Given the description of an element on the screen output the (x, y) to click on. 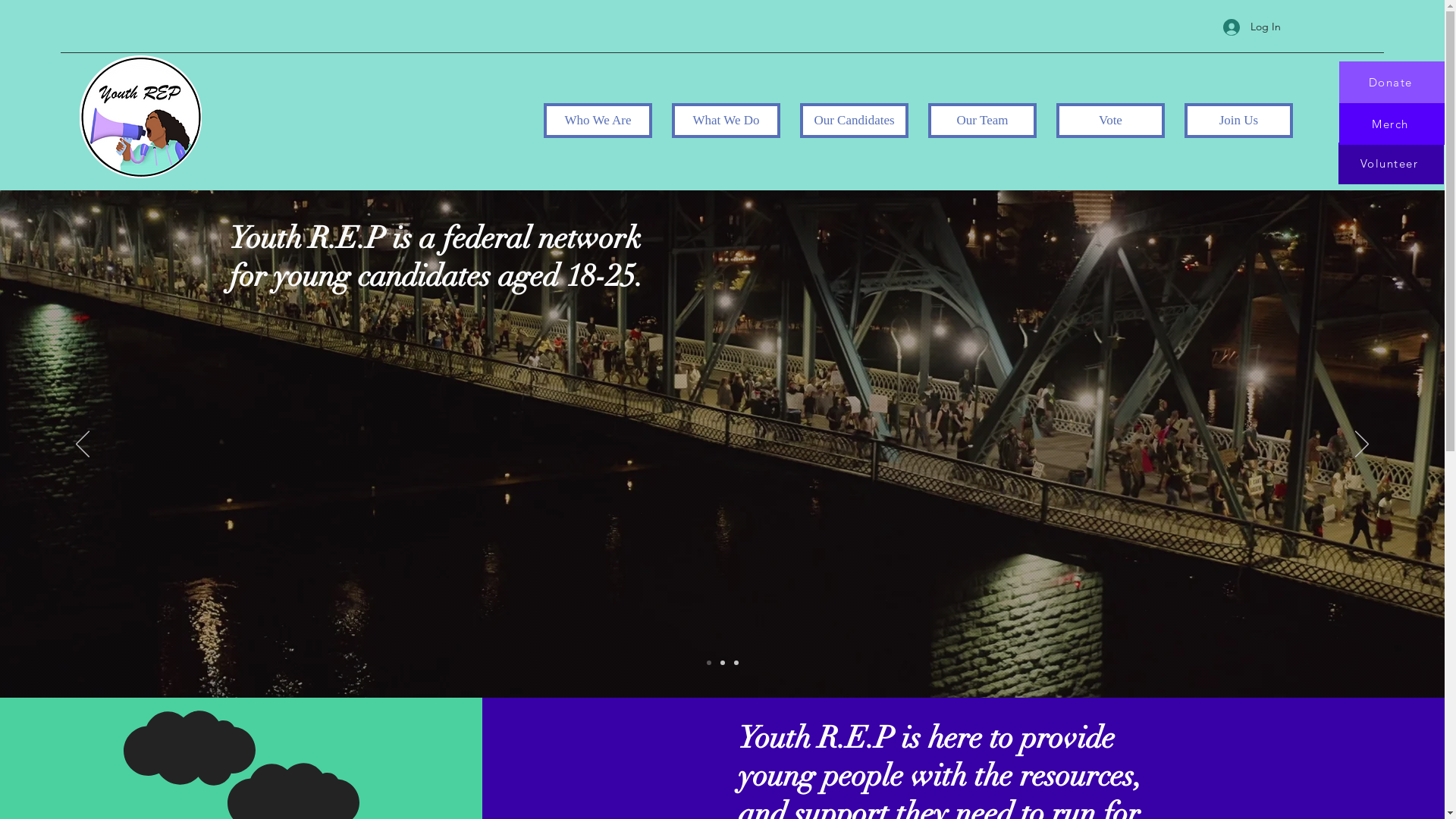
What We Do Element type: text (725, 120)
Vote Element type: text (1110, 120)
Our Candidates Element type: text (854, 120)
Who We Are Element type: text (597, 120)
Merch Element type: text (1391, 123)
Volunteer Element type: text (1390, 163)
Log In Element type: text (1250, 26)
Our Team Element type: text (982, 120)
Donate Element type: text (1391, 82)
Join Us Element type: text (1238, 120)
